Given the description of an element on the screen output the (x, y) to click on. 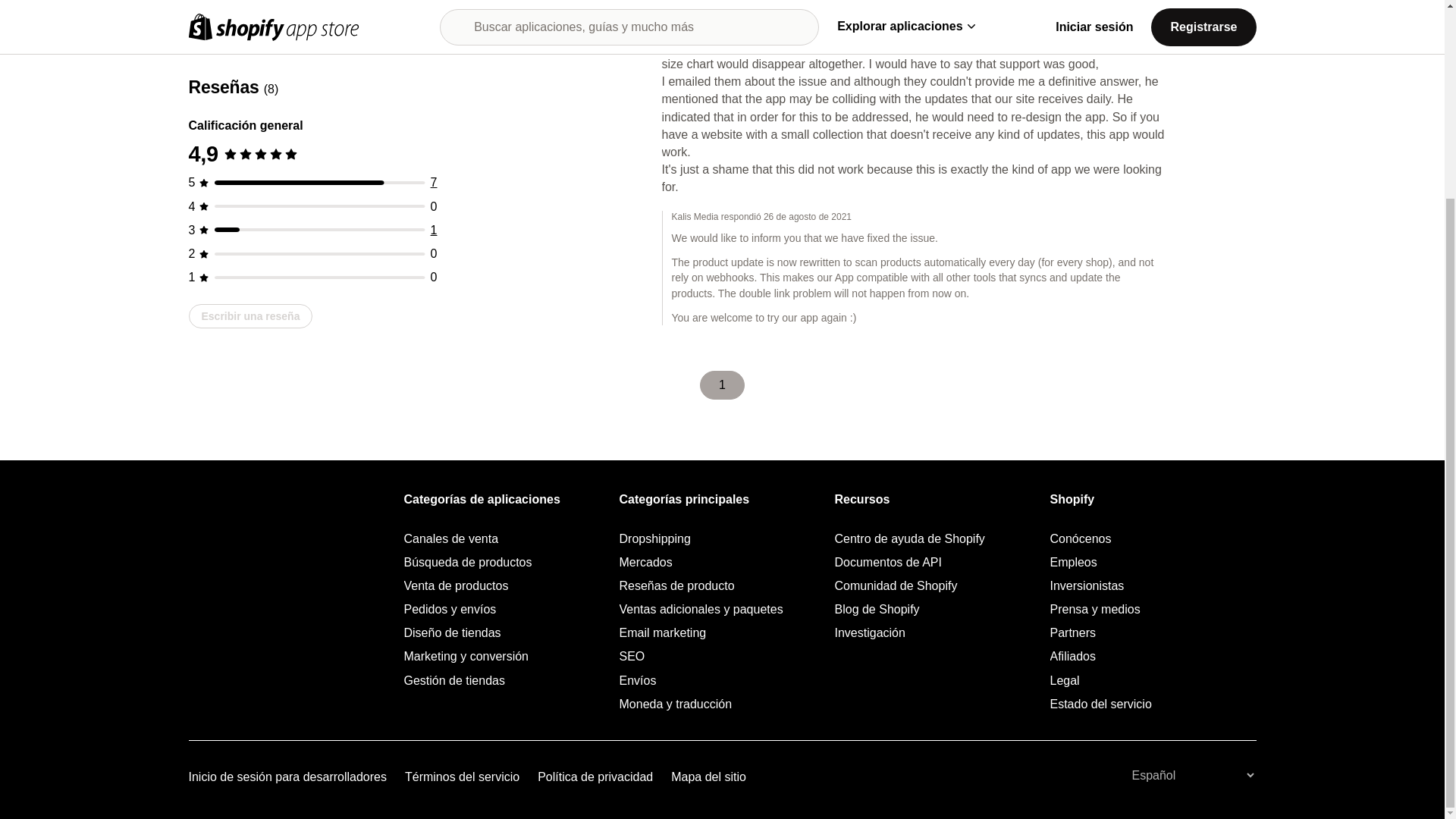
1 (434, 78)
7 (434, 31)
